Given the description of an element on the screen output the (x, y) to click on. 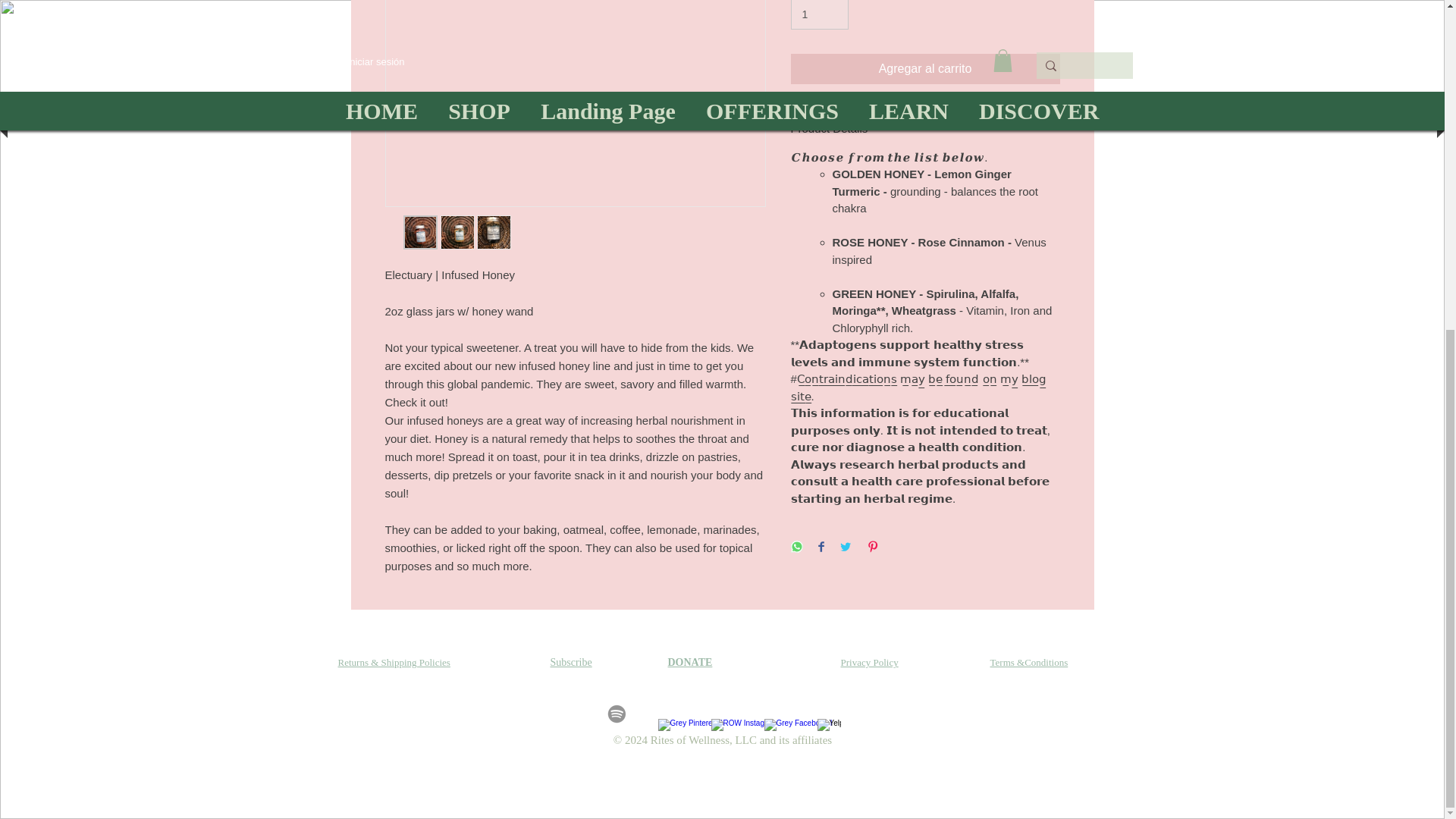
DONATE (688, 662)
Privacy Policy (869, 662)
Agregar al carrito (924, 69)
Product Details (924, 128)
1 (818, 14)
Subscribe (571, 662)
